Given the description of an element on the screen output the (x, y) to click on. 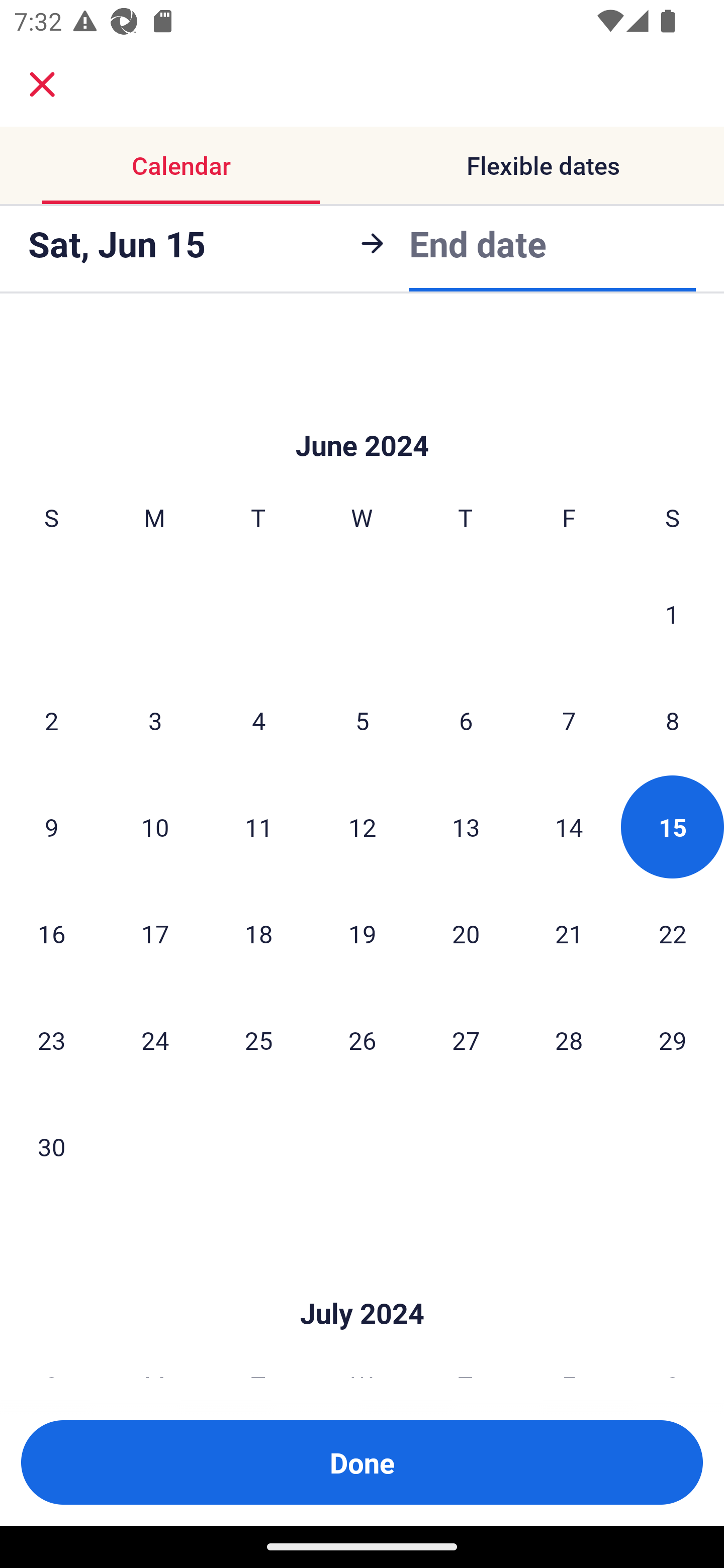
close. (42, 84)
Flexible dates (542, 164)
End date (477, 240)
Skip to Done (362, 415)
1 Saturday, June 1, 2024 (672, 613)
2 Sunday, June 2, 2024 (51, 720)
3 Monday, June 3, 2024 (155, 720)
4 Tuesday, June 4, 2024 (258, 720)
5 Wednesday, June 5, 2024 (362, 720)
6 Thursday, June 6, 2024 (465, 720)
7 Friday, June 7, 2024 (569, 720)
8 Saturday, June 8, 2024 (672, 720)
9 Sunday, June 9, 2024 (51, 827)
10 Monday, June 10, 2024 (155, 827)
11 Tuesday, June 11, 2024 (258, 827)
12 Wednesday, June 12, 2024 (362, 827)
13 Thursday, June 13, 2024 (465, 827)
14 Friday, June 14, 2024 (569, 827)
16 Sunday, June 16, 2024 (51, 932)
17 Monday, June 17, 2024 (155, 932)
18 Tuesday, June 18, 2024 (258, 932)
19 Wednesday, June 19, 2024 (362, 932)
20 Thursday, June 20, 2024 (465, 932)
21 Friday, June 21, 2024 (569, 932)
22 Saturday, June 22, 2024 (672, 932)
23 Sunday, June 23, 2024 (51, 1039)
24 Monday, June 24, 2024 (155, 1039)
25 Tuesday, June 25, 2024 (258, 1039)
26 Wednesday, June 26, 2024 (362, 1039)
27 Thursday, June 27, 2024 (465, 1039)
28 Friday, June 28, 2024 (569, 1039)
29 Saturday, June 29, 2024 (672, 1039)
30 Sunday, June 30, 2024 (51, 1145)
Skip to Done (362, 1283)
Done (361, 1462)
